Given the description of an element on the screen output the (x, y) to click on. 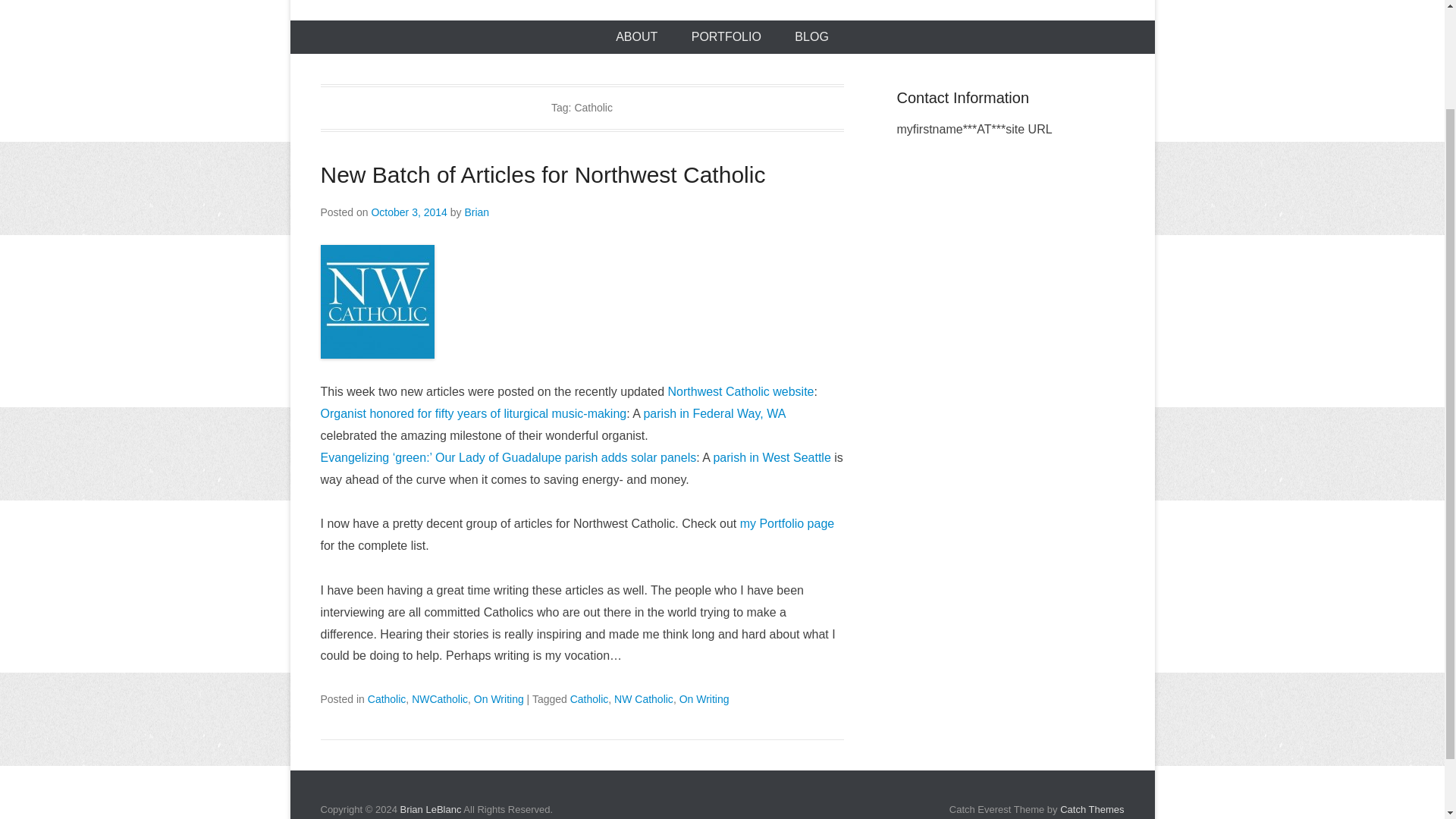
Brian LeBlanc (429, 808)
Catch Themes (1091, 808)
BLOG (810, 37)
parish in West Seattle (771, 457)
ABOUT (635, 37)
On Writing (499, 698)
Catholic (589, 698)
parish in Federal Way, WA (713, 413)
Brian LeBlanc (429, 808)
On Writing (704, 698)
Catholic (387, 698)
New Batch of Articles for Northwest Catholic (542, 174)
Organist honored for fifty years of liturgical music-making (473, 413)
NW Catholic (643, 698)
Northwest Catholic website (740, 391)
